Given the description of an element on the screen output the (x, y) to click on. 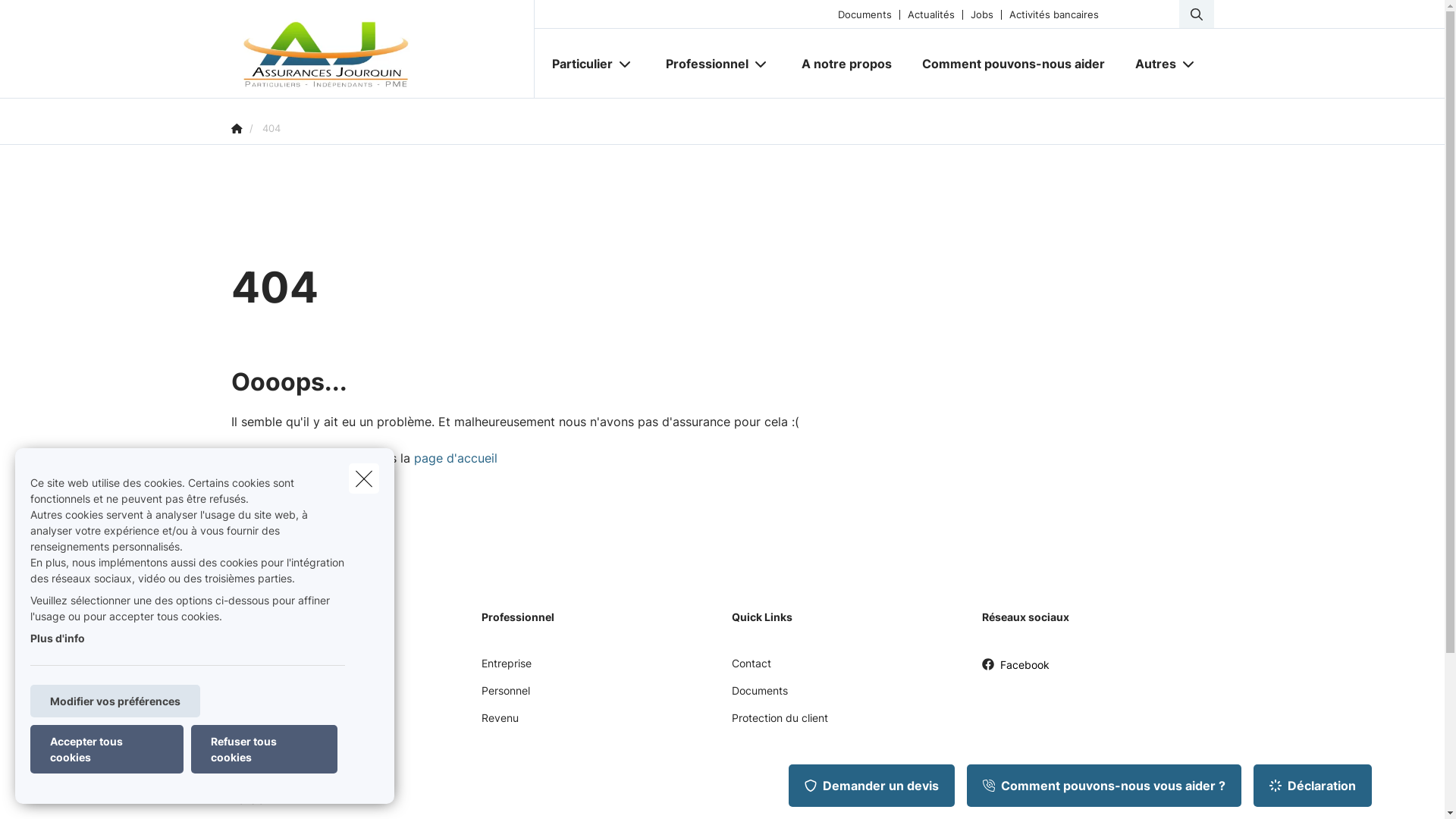
Hospitalisation Element type: text (266, 750)
Particulier Element type: text (576, 63)
Personnel Element type: text (504, 695)
Famille et protection juridique Element type: text (303, 723)
Comment pouvons-nous aider Element type: text (1013, 63)
Refuser tous cookies Element type: text (264, 748)
Autres Element type: text (1149, 63)
page d'accueil Element type: text (455, 457)
Contact Element type: text (750, 668)
Protection du client Element type: text (779, 723)
Entreprise Element type: text (505, 668)
Comment pouvons-nous vous aider ? Element type: text (1103, 785)
Plus d'info Element type: text (57, 637)
Rechercher Element type: text (54, 18)
Documents Element type: text (759, 695)
Accepter tous cookies Element type: text (106, 748)
A notre propos Element type: text (845, 63)
Documents Element type: text (863, 13)
Facebook Element type: text (1014, 669)
Professionnel Element type: text (701, 63)
Jobs Element type: text (980, 13)
Demander un devis Element type: text (871, 785)
Revenu Element type: text (498, 723)
Habitation Element type: text (255, 695)
